Given the description of an element on the screen output the (x, y) to click on. 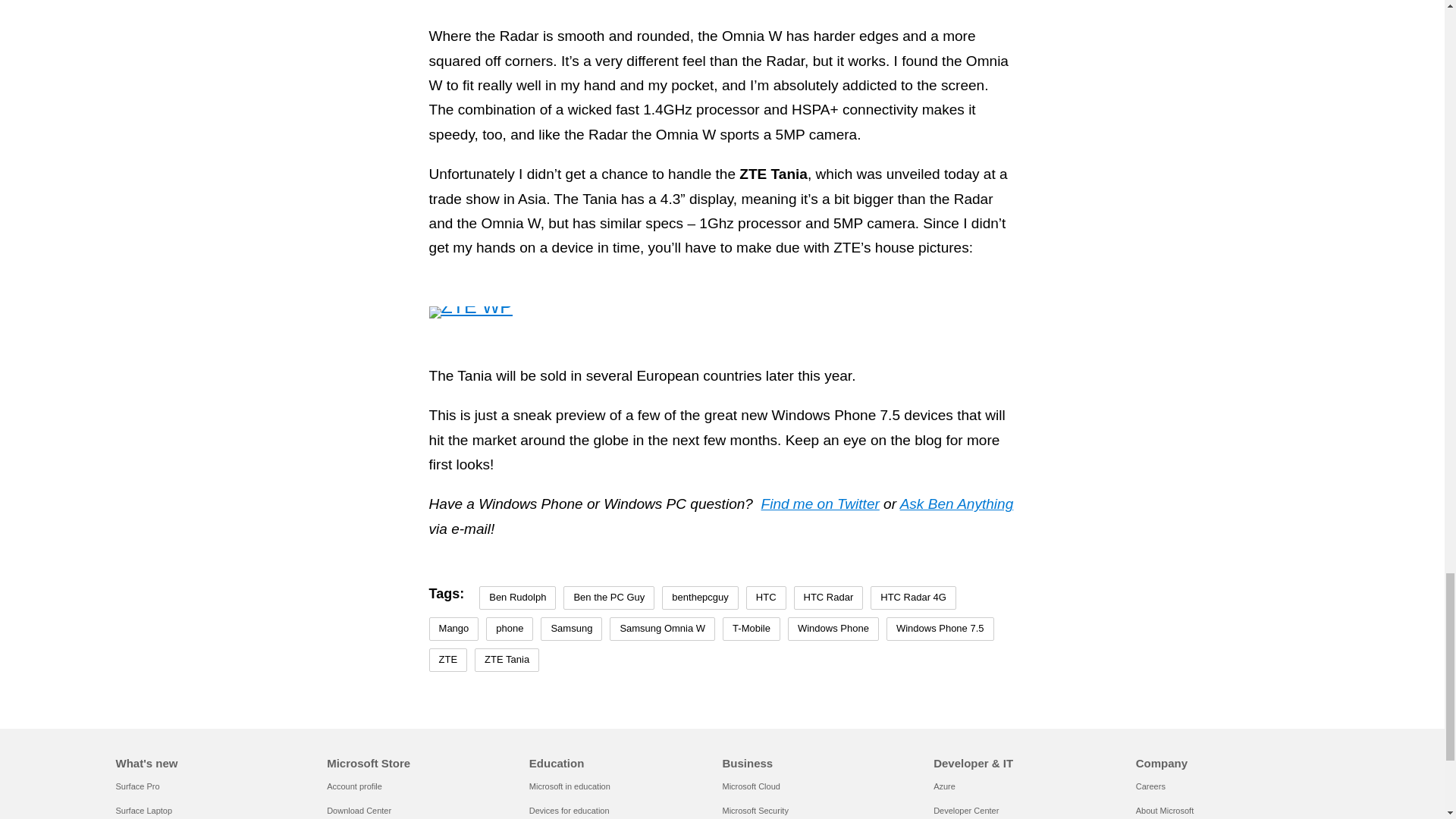
Mango Tag (454, 628)
Ben the PC Guy Tag (608, 597)
HTC Radar Tag (828, 597)
HTC Radar 4G Tag (913, 597)
benthepcguy Tag (700, 597)
HTC Tag (765, 597)
phone Tag (509, 628)
Ben Rudolph Tag (517, 597)
ZTE WP (470, 312)
